Given the description of an element on the screen output the (x, y) to click on. 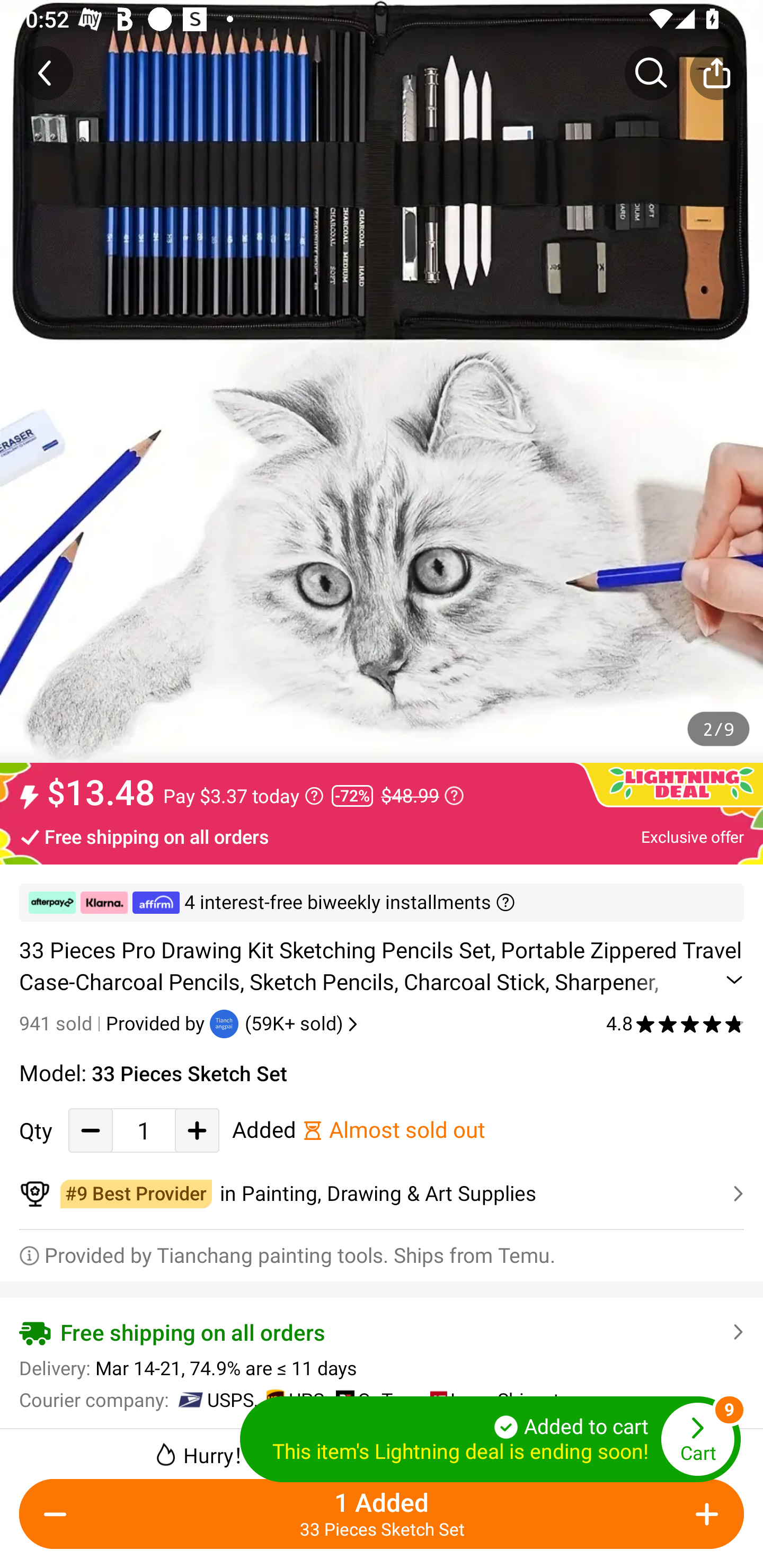
Back (46, 72)
Share (716, 72)
Pay $3.37 today   (243, 795)
Free shipping on all orders Exclusive offer (381, 836)
￼ ￼ ￼ 4 interest-free biweekly installments ￼ (381, 902)
4.8 (674, 1023)
Decrease Quantity Button (90, 1130)
1 (143, 1130)
Add Quantity button (196, 1130)
￼￼in Painting, Drawing & Art Supplies (381, 1193)
Decrease Quantity Button (59, 1513)
Add Quantity button (703, 1513)
